Given the description of an element on the screen output the (x, y) to click on. 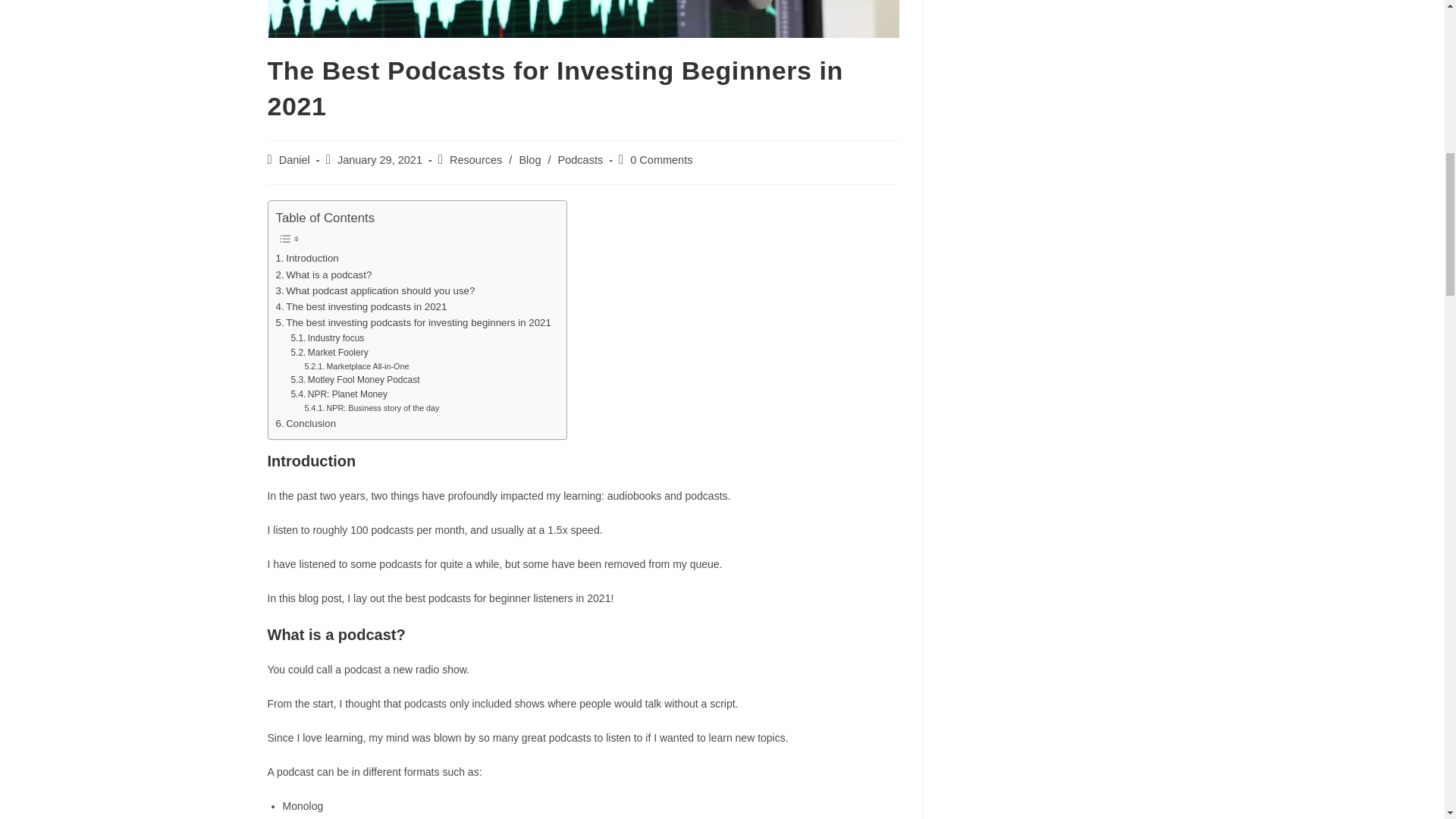
What podcast application should you use? (376, 290)
Resources (475, 159)
Conclusion (306, 423)
NPR: Business story of the day (371, 408)
The best investing podcasts for investing beginners in 2021 (413, 322)
Blog (529, 159)
Daniel (294, 159)
Motley Fool Money Podcast (354, 380)
Motley Fool Money Podcast (354, 380)
Introduction (307, 258)
The best investing podcasts in 2021 (361, 306)
Market Foolery (328, 352)
NPR: Planet Money (338, 394)
Industry focus (326, 338)
What is a podcast? (324, 274)
